Given the description of an element on the screen output the (x, y) to click on. 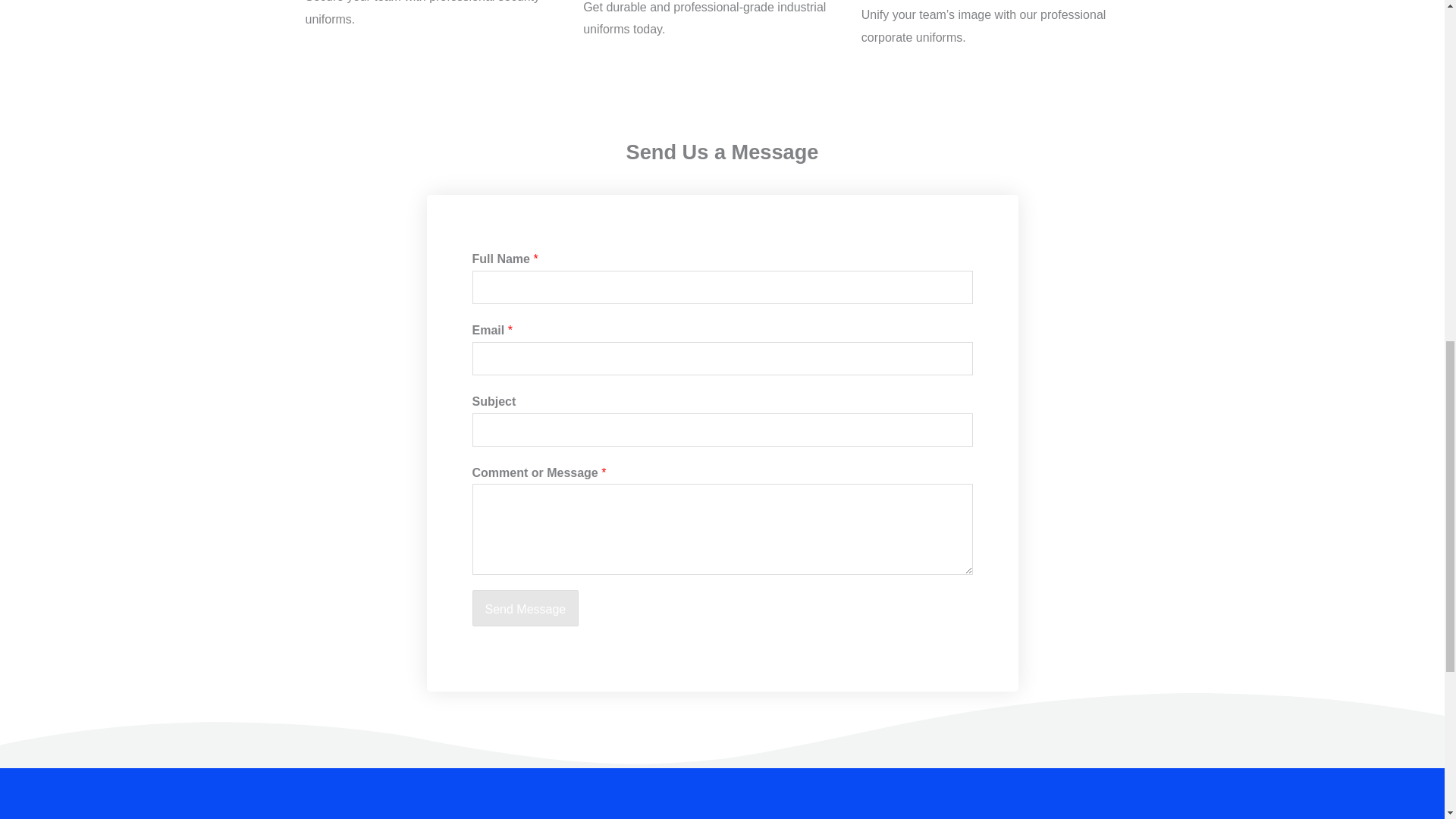
Send Message (524, 607)
